Given the description of an element on the screen output the (x, y) to click on. 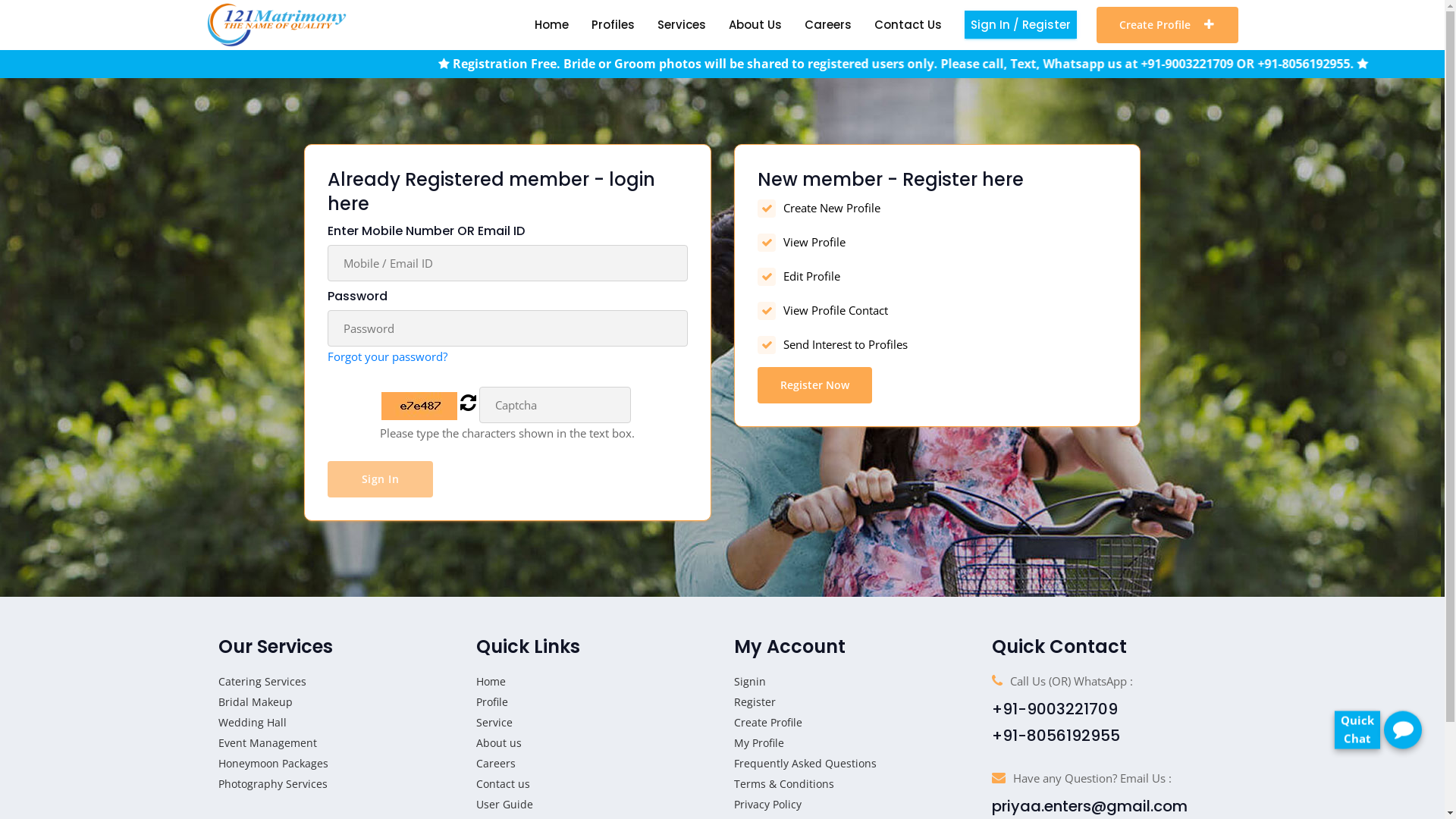
Home Element type: text (550, 24)
Event Management Element type: text (267, 742)
About us Element type: text (498, 742)
Services Element type: text (680, 24)
Create Profile Element type: text (1167, 24)
Contact us Element type: text (503, 783)
Profile Element type: text (492, 701)
Sign In Element type: text (380, 479)
Home Element type: text (490, 681)
Forgot your password? Element type: text (387, 356)
Honeymoon Packages Element type: text (273, 763)
Careers Element type: text (495, 763)
priyaa.enters@gmail.com Element type: text (1089, 805)
Register Element type: text (754, 701)
Bridal Makeup Element type: text (255, 701)
Catering Services Element type: text (262, 681)
Frequently Asked Questions Element type: text (805, 763)
Create Profile Element type: text (768, 722)
+91-9003221709 Element type: text (1054, 708)
Contact Us Element type: text (907, 24)
+91-8056192955 Element type: text (1055, 735)
Wedding Hall Element type: text (252, 722)
My Profile Element type: text (759, 742)
Signin Element type: text (749, 681)
Register Now Element type: text (813, 385)
Terms & Conditions Element type: text (784, 783)
Profiles Element type: text (612, 24)
Photography Services Element type: text (272, 783)
Careers Element type: text (826, 24)
Service Element type: text (494, 722)
Sign In / Register Element type: text (1020, 24)
About Us Element type: text (754, 24)
User Guide Element type: text (504, 804)
Quick Chat Element type: text (1357, 721)
Privacy Policy Element type: text (767, 804)
